Given the description of an element on the screen output the (x, y) to click on. 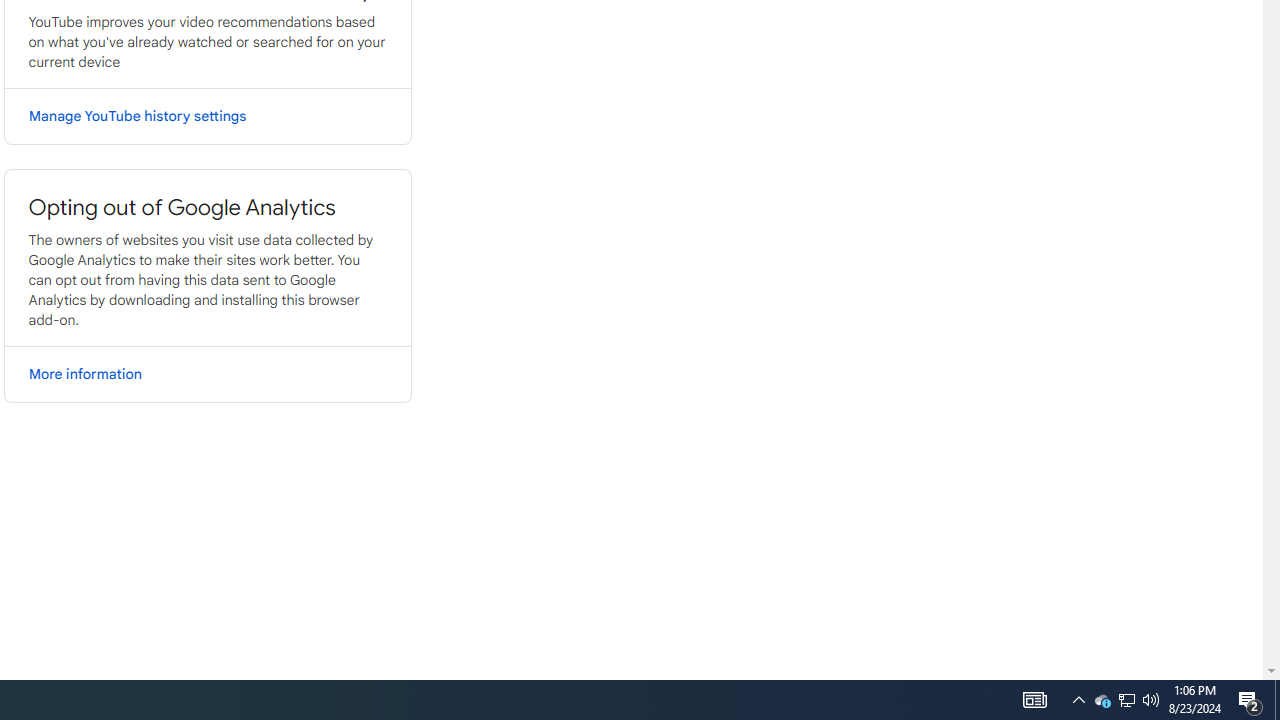
Manage YouTube history settings (206, 116)
More information (206, 374)
